Given the description of an element on the screen output the (x, y) to click on. 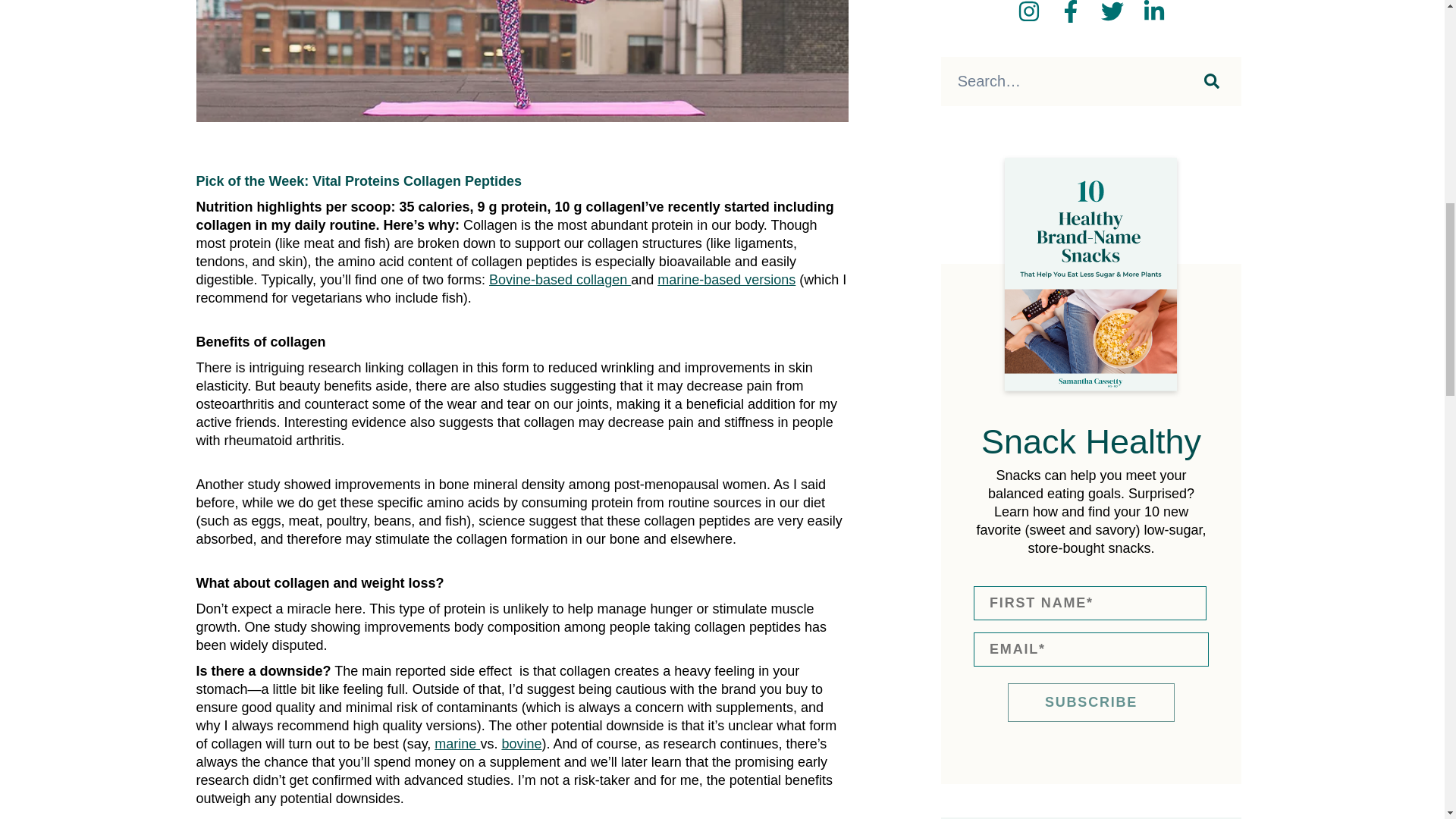
marine  (456, 743)
bovine (520, 743)
marine-based versions (726, 279)
Bovine-based collagen  (559, 279)
Pick of the Week: Vital Proteins Collagen Peptides (358, 181)
SUBSCRIBE (1090, 702)
SUBSCRIBE (1090, 702)
